Given the description of an element on the screen output the (x, y) to click on. 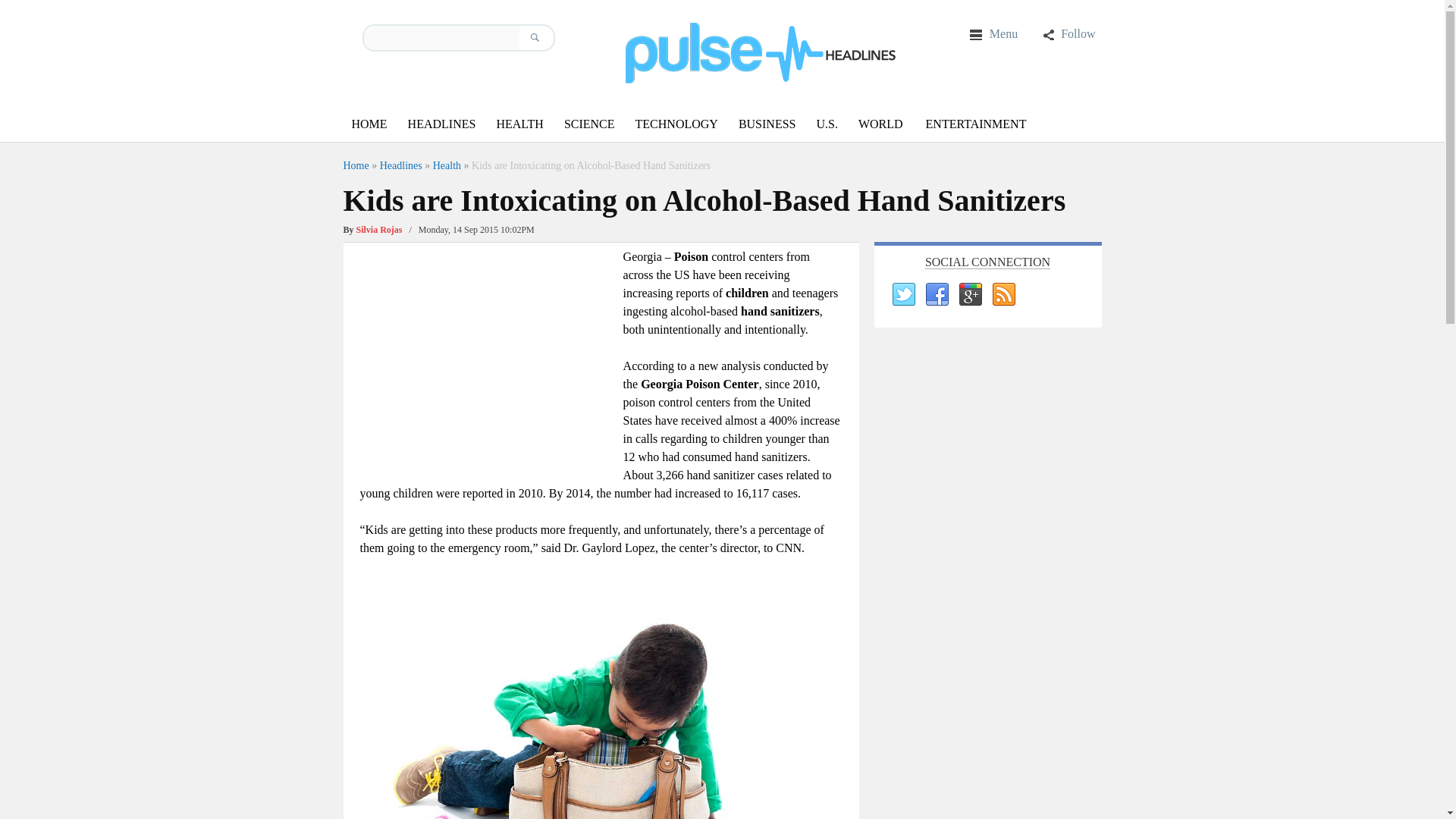
Menu (993, 33)
 View all posts by Silvia Rojas (379, 229)
Home (355, 165)
WORLD (880, 123)
Health (446, 165)
RSS (1002, 294)
HOME (368, 123)
Silvia Rojas (379, 229)
Headlines (401, 165)
Follow (1068, 33)
Google Plus (968, 294)
HEALTH (519, 123)
HEADLINES (441, 123)
Facebook (935, 294)
SCIENCE (589, 123)
